Given the description of an element on the screen output the (x, y) to click on. 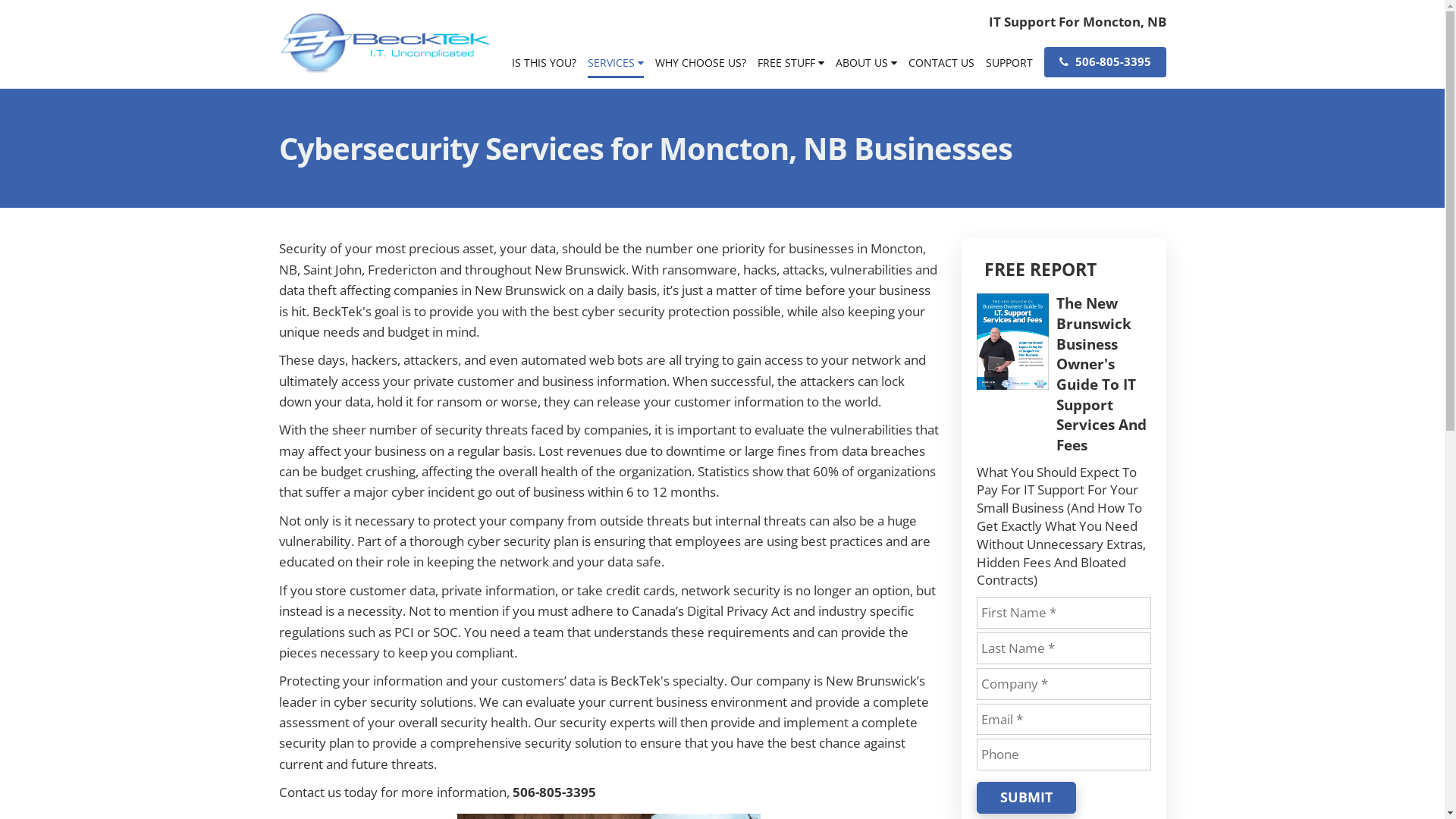
CONTACT US Element type: text (941, 67)
ABOUT US Element type: text (866, 67)
SERVICES Element type: text (614, 67)
506-805-3395 Element type: text (1104, 62)
SUBMIT Element type: text (1026, 797)
IS THIS YOU? Element type: text (543, 67)
SUPPORT Element type: text (1008, 67)
FREE STUFF Element type: text (789, 67)
WHY CHOOSE US? Element type: text (700, 67)
